Given the description of an element on the screen output the (x, y) to click on. 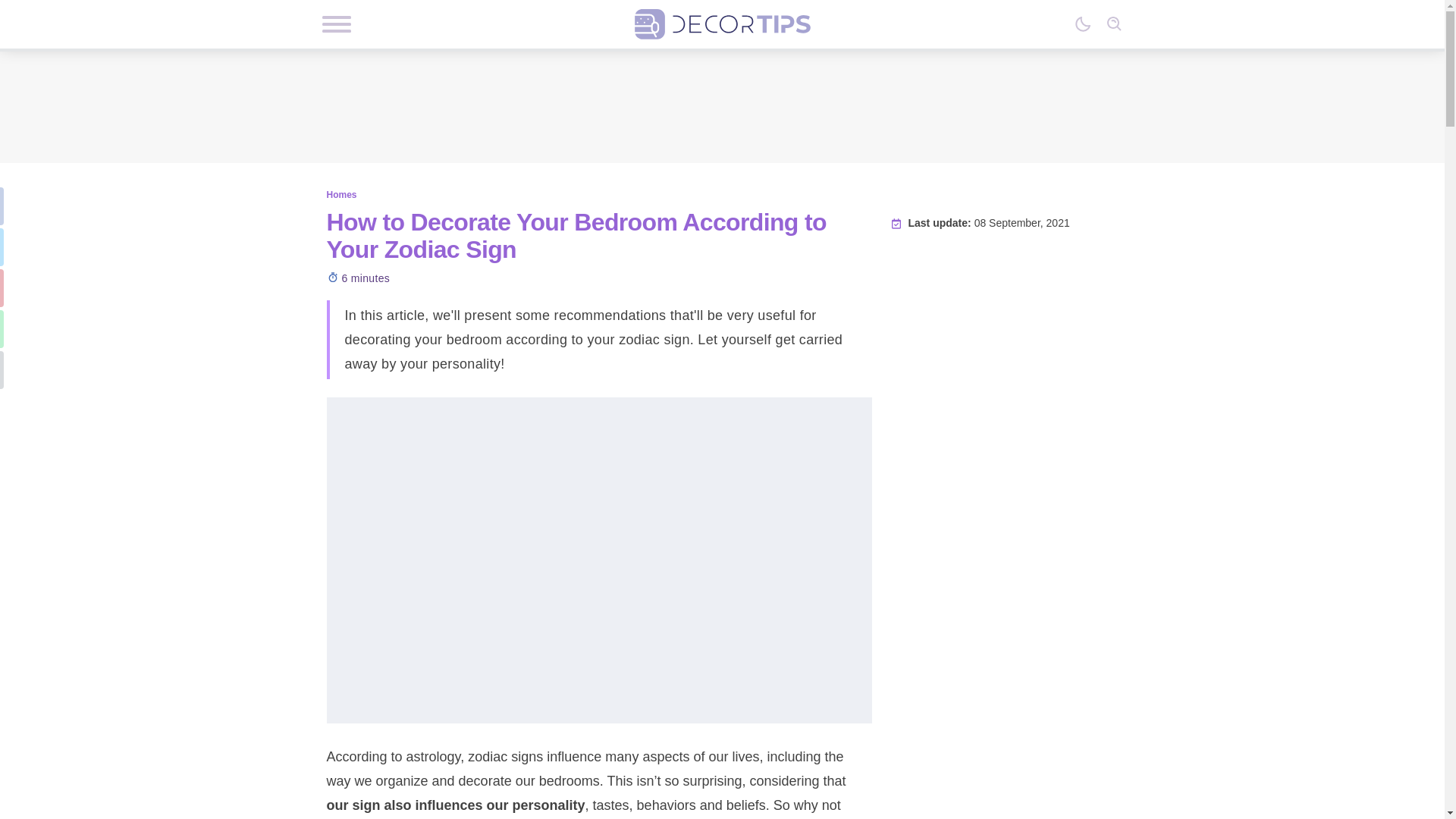
Homes (341, 193)
Homes (341, 193)
